Given the description of an element on the screen output the (x, y) to click on. 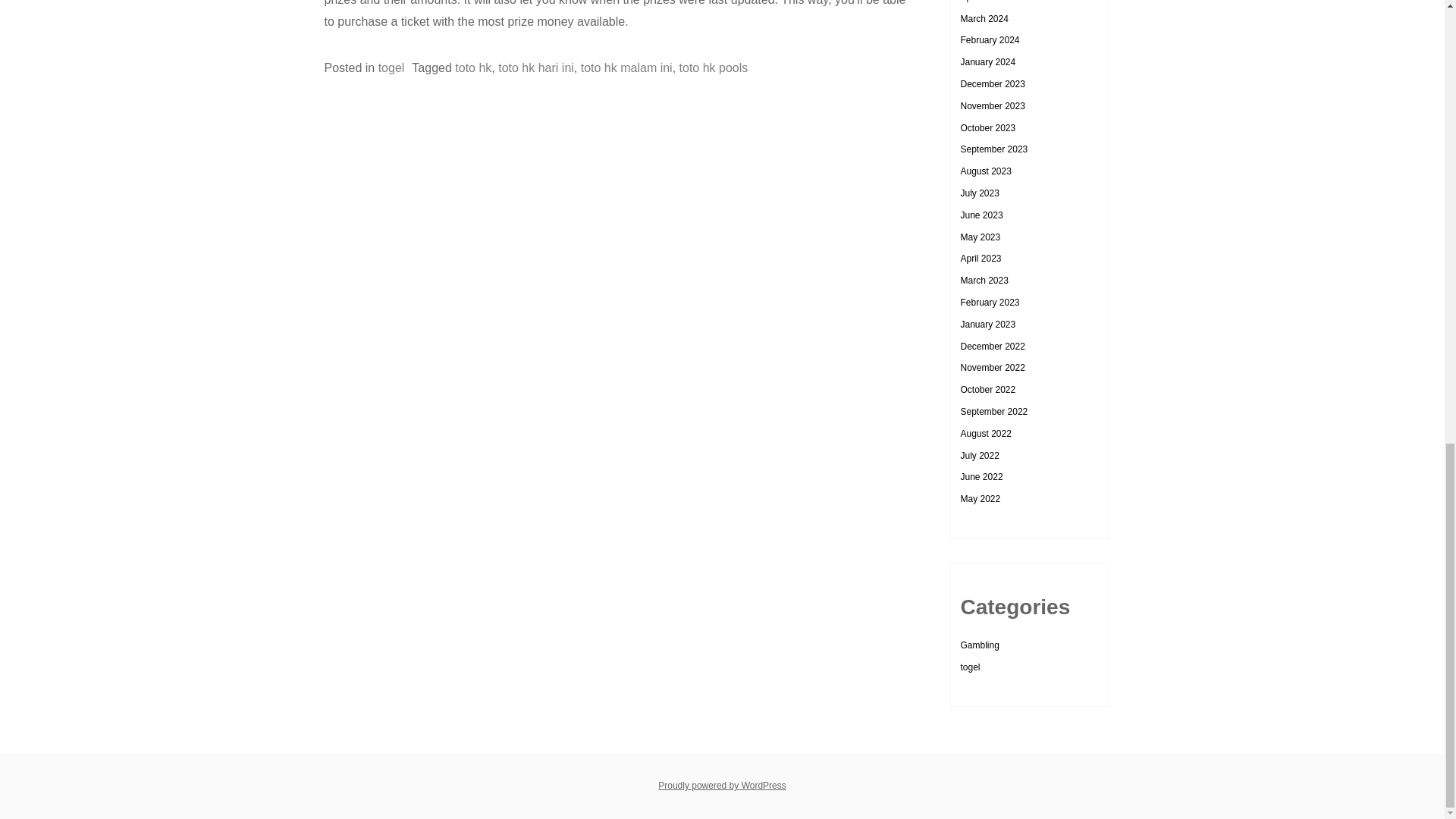
October 2023 (986, 127)
March 2023 (983, 280)
September 2023 (993, 149)
toto hk pools (713, 67)
togel (391, 67)
July 2023 (978, 193)
December 2023 (992, 83)
February 2024 (989, 40)
November 2023 (992, 105)
April 2023 (980, 258)
May 2023 (979, 236)
August 2023 (984, 171)
June 2023 (981, 214)
toto hk (473, 67)
January 2023 (986, 324)
